Given the description of an element on the screen output the (x, y) to click on. 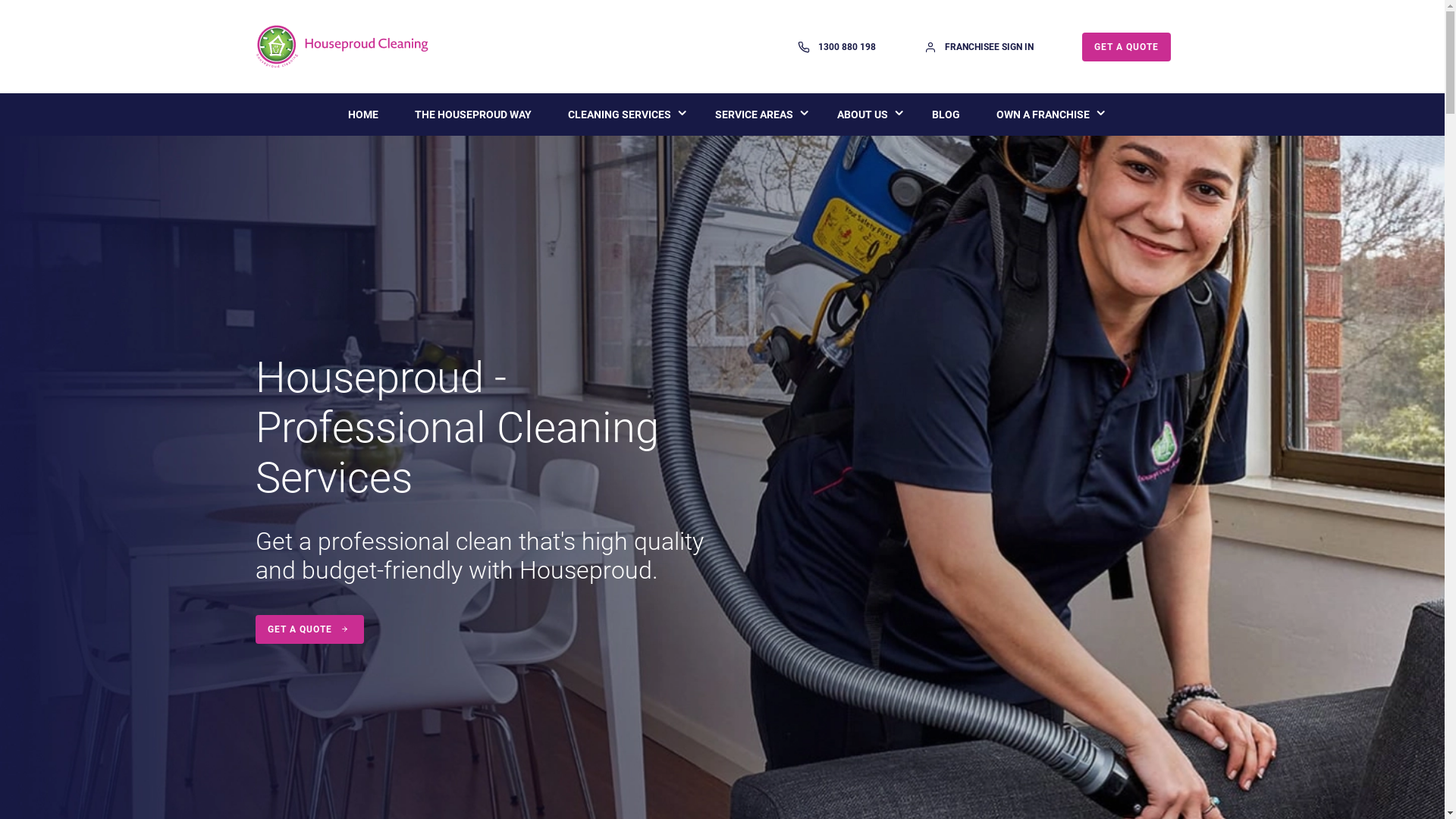
GET A QUOTE Element type: text (1126, 45)
CLEANING SERVICES Element type: text (618, 114)
HOME Element type: text (362, 114)
1300 880 198 Element type: text (836, 46)
FRANCHISEE SIGN IN Element type: text (978, 46)
GET A QUOTE Element type: text (1126, 45)
BLOG Element type: text (945, 114)
GET A QUOTE Element type: text (308, 624)
THE HOUSEPROUD WAY Element type: text (472, 114)
GET A QUOTE Element type: text (308, 629)
OWN A FRANCHISE Element type: text (1042, 114)
